Given the description of an element on the screen output the (x, y) to click on. 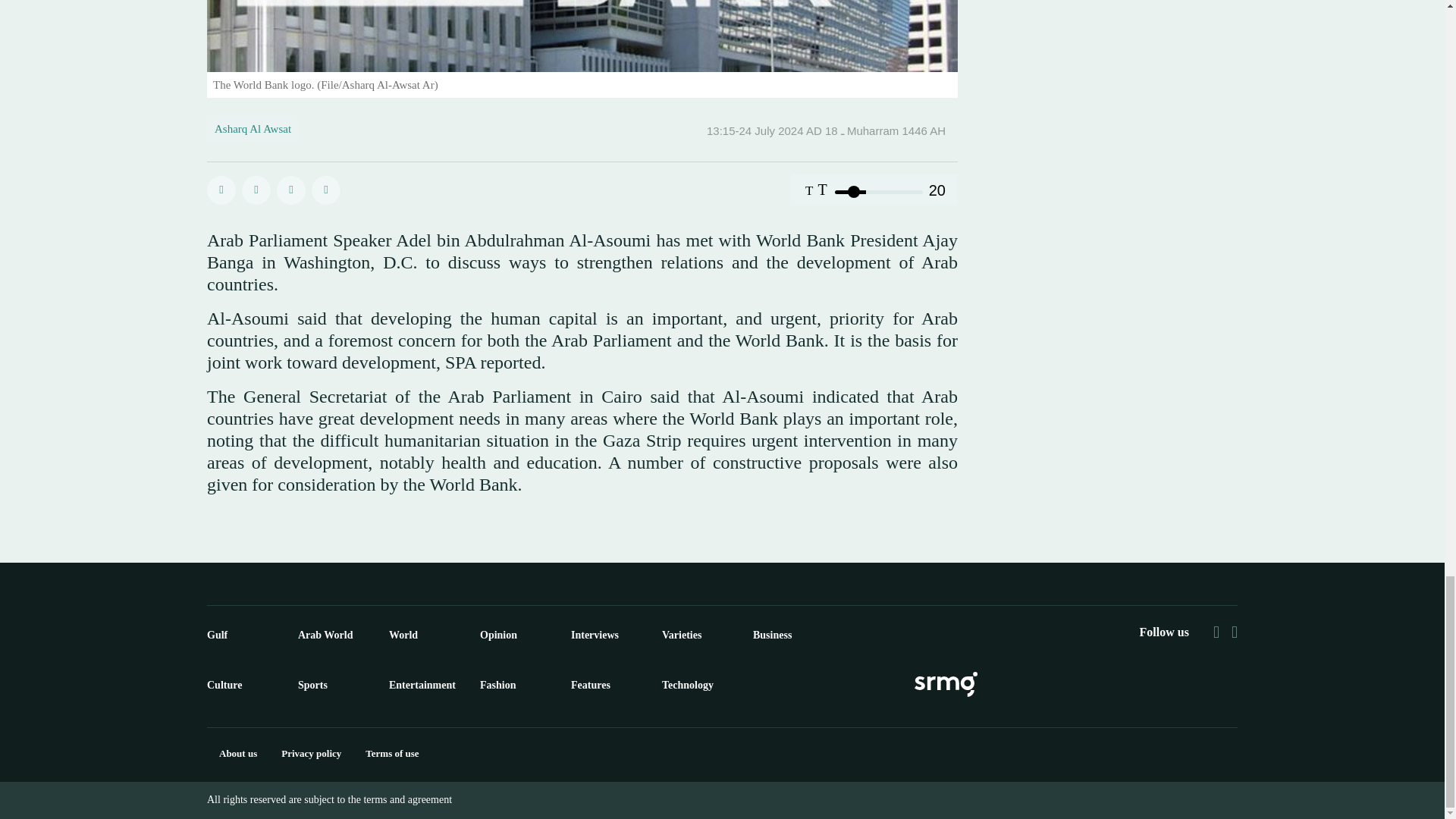
20 (878, 192)
